Given the description of an element on the screen output the (x, y) to click on. 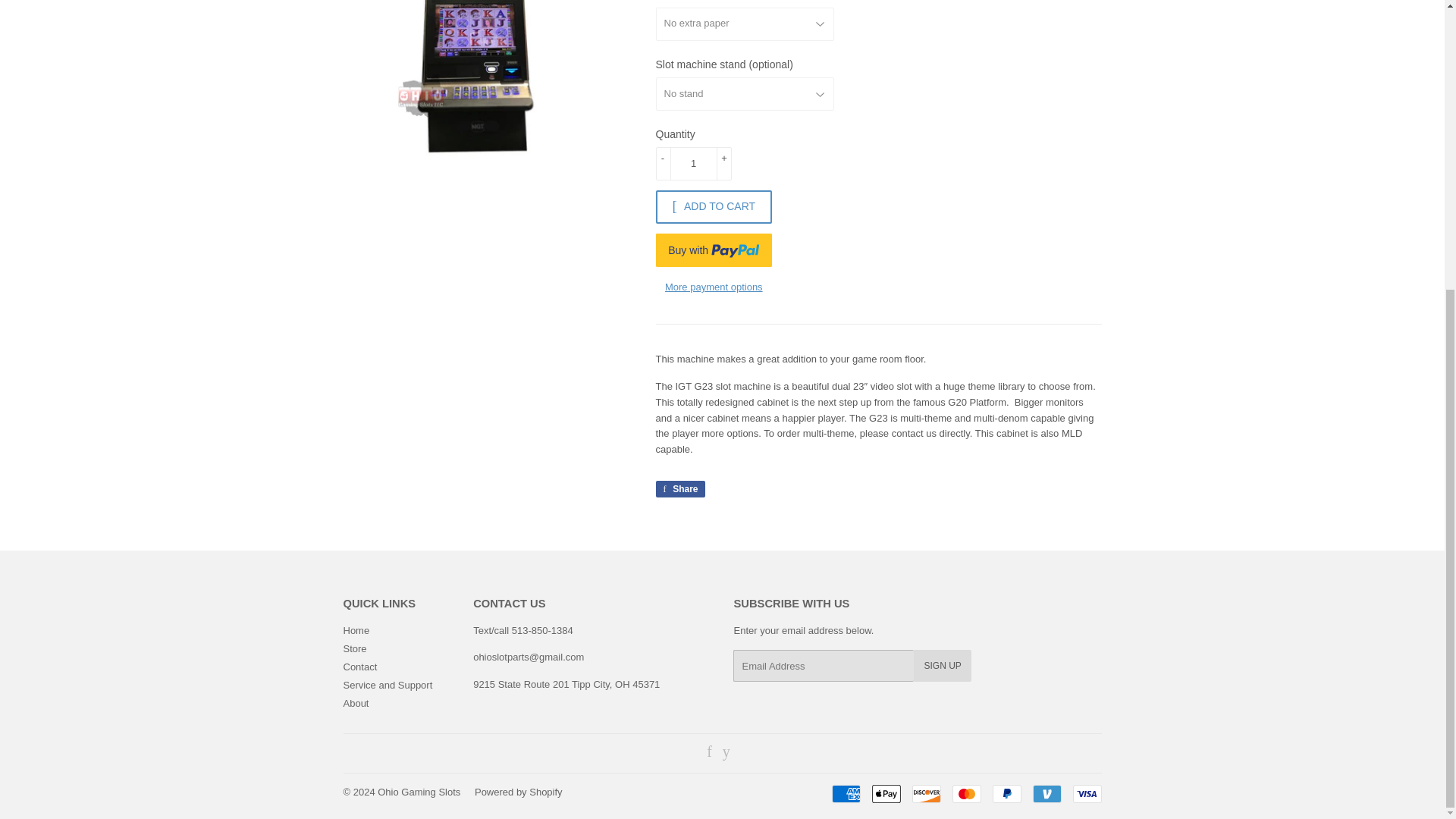
1 (692, 163)
Ohio Gaming Slots on YouTube (726, 753)
Ohio Gaming Slots on Facebook (708, 753)
Apple Pay (886, 793)
American Express (845, 793)
Visa (1085, 793)
Discover (925, 793)
Mastercard (966, 793)
PayPal (1005, 793)
Venmo (1046, 793)
Share on Facebook (679, 488)
